Given the description of an element on the screen output the (x, y) to click on. 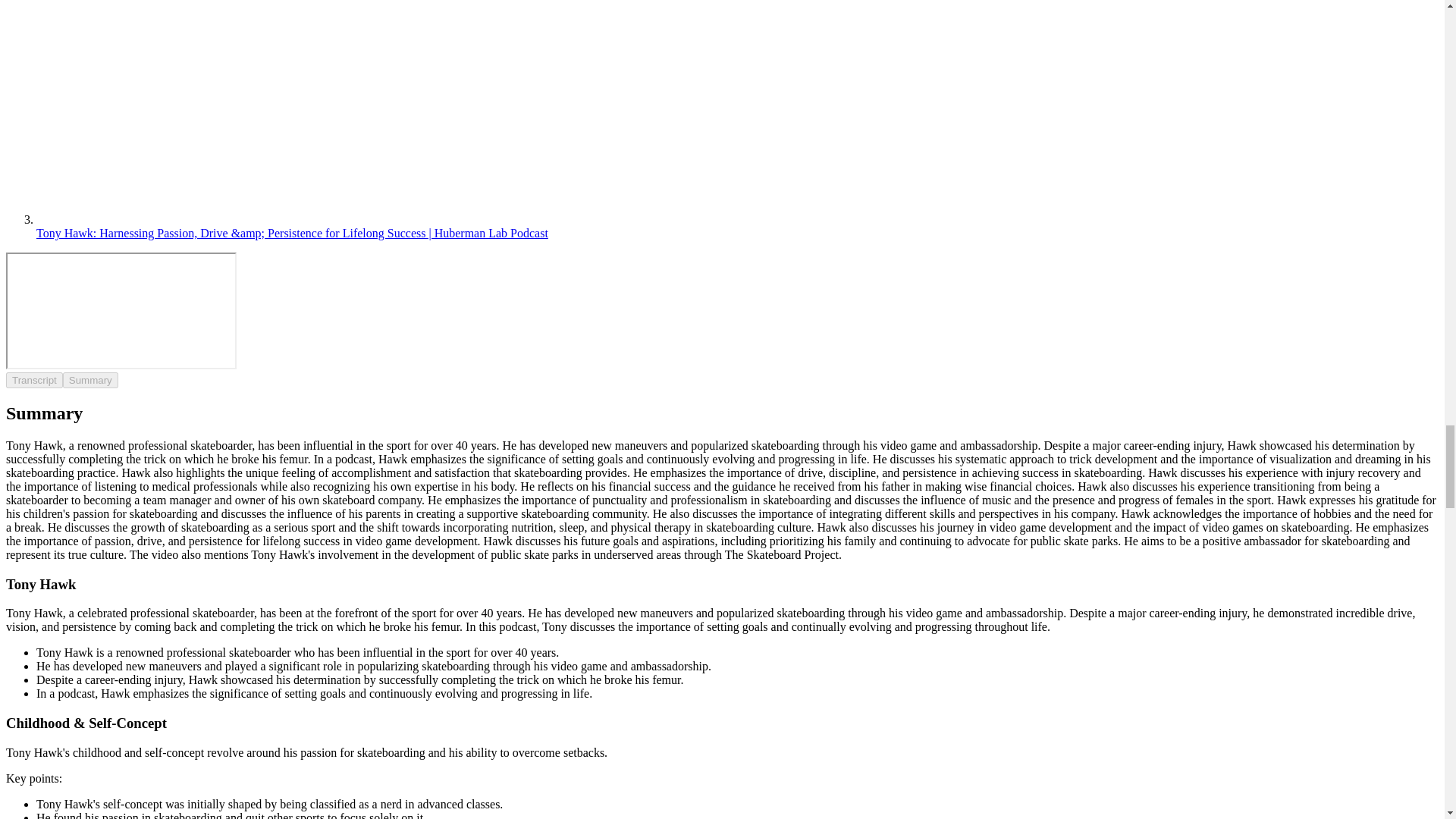
Summary (89, 380)
Transcript (33, 380)
